Given the description of an element on the screen output the (x, y) to click on. 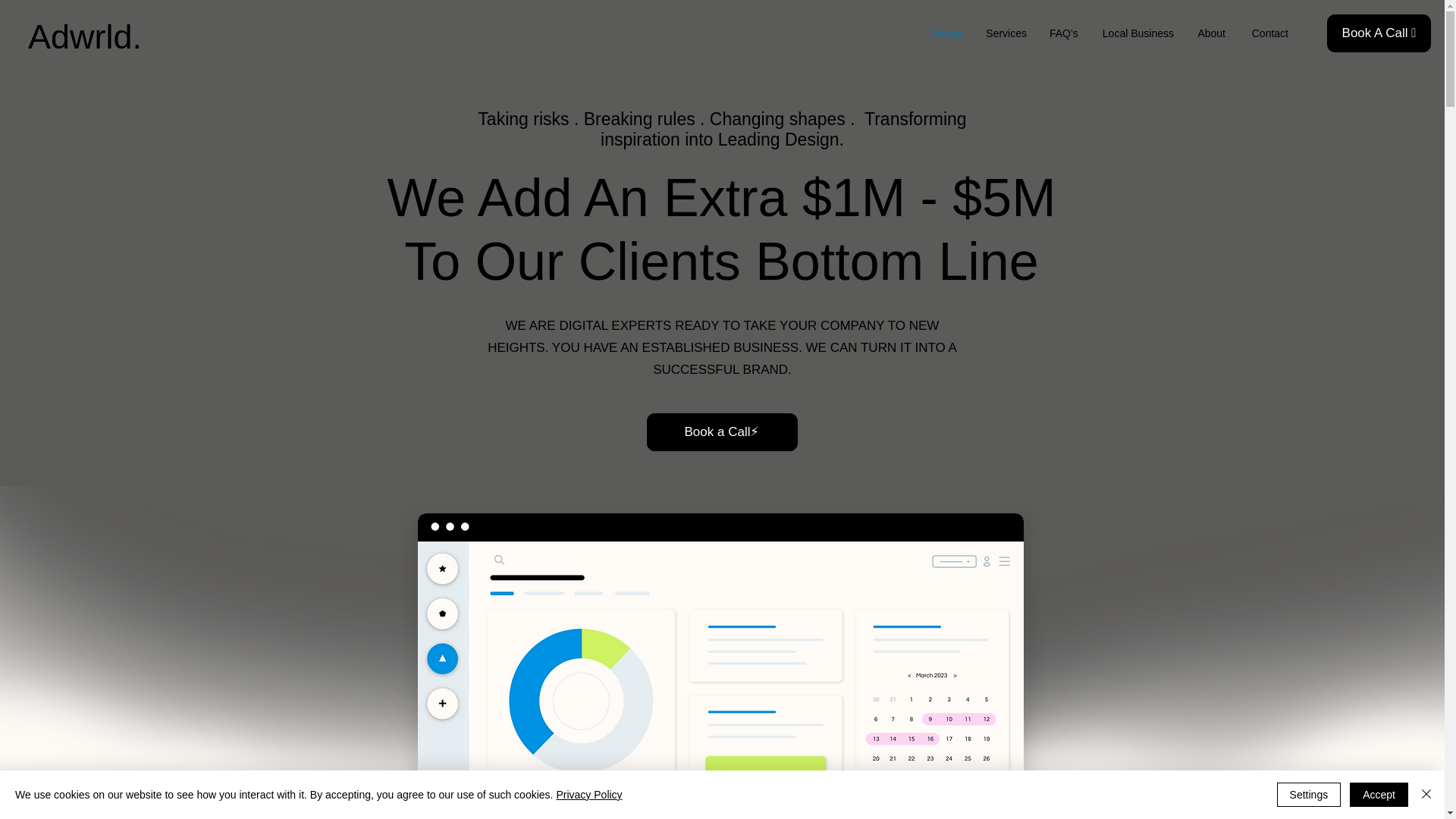
Adwrld. (84, 36)
Home (946, 33)
Local Business (1137, 33)
FAQ's (1063, 33)
Contact (1268, 33)
Services (1005, 33)
About (1210, 33)
